Given the description of an element on the screen output the (x, y) to click on. 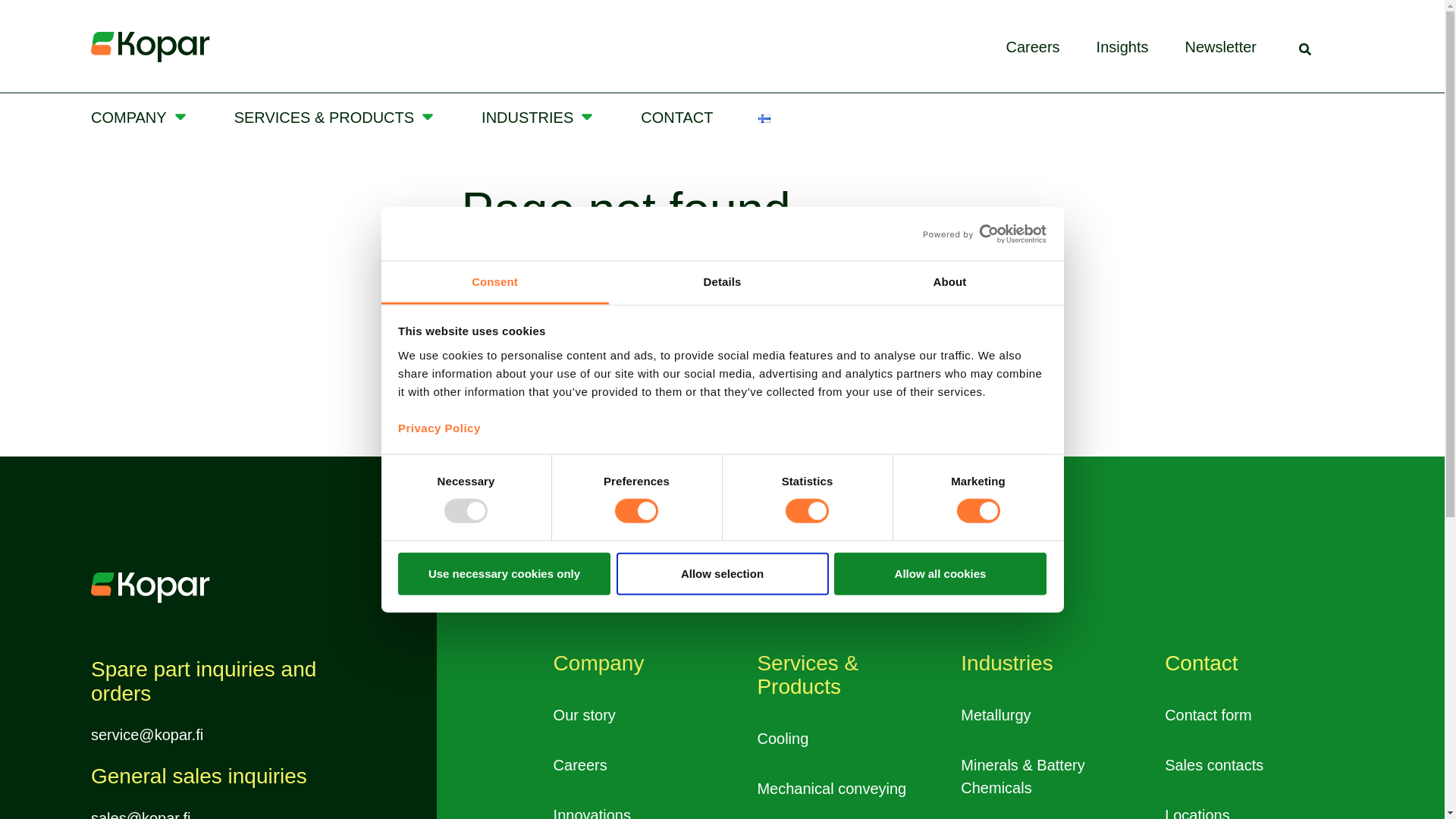
Details (721, 282)
Privacy Policy (438, 427)
Privacy Policy (438, 427)
About (948, 282)
Consent (494, 282)
